Given the description of an element on the screen output the (x, y) to click on. 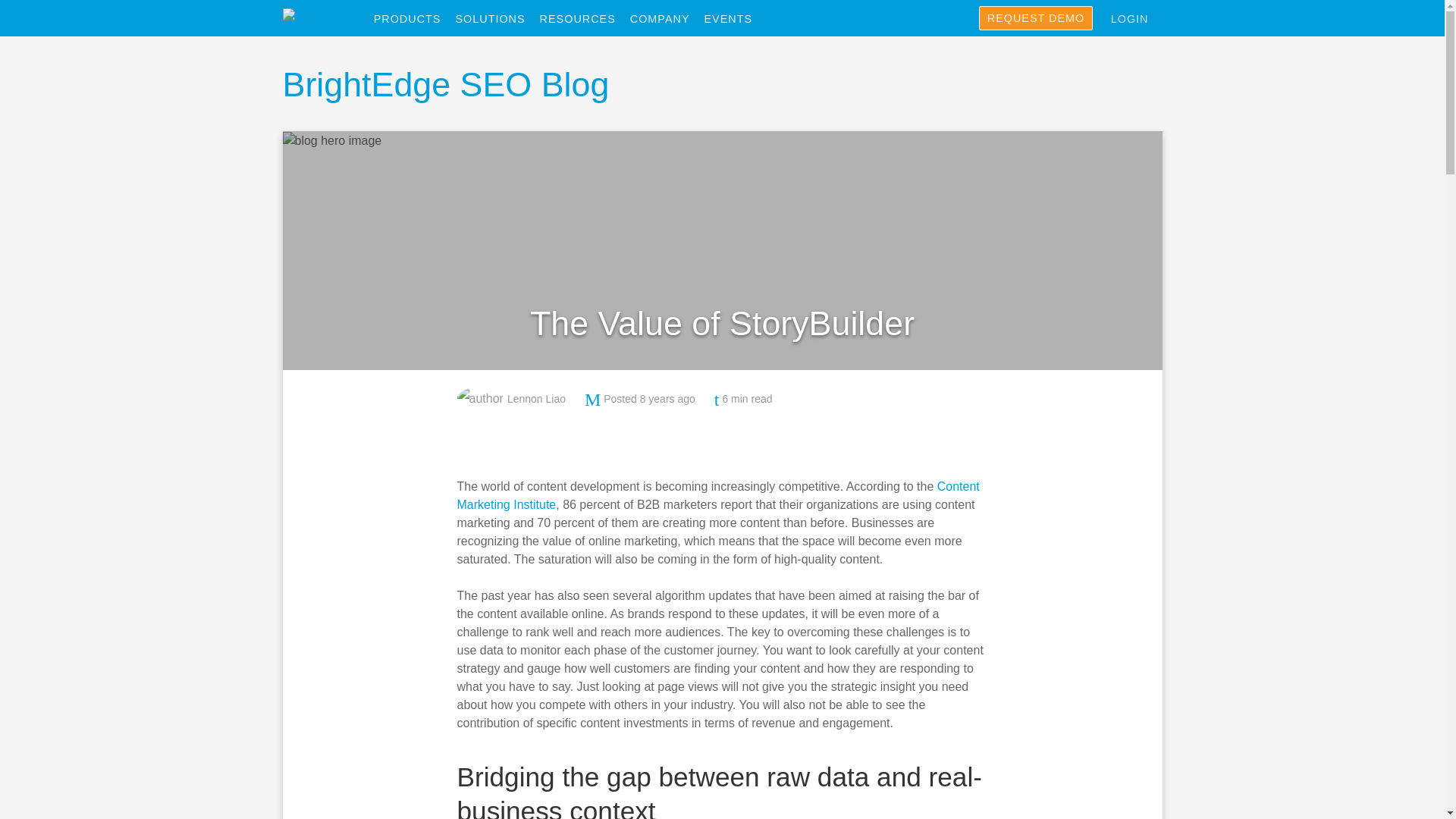
Resources (583, 19)
SOLUTIONS (496, 19)
BrightEdge (317, 17)
Products (413, 19)
RESOURCES (583, 19)
PRODUCTS (413, 19)
